Given the description of an element on the screen output the (x, y) to click on. 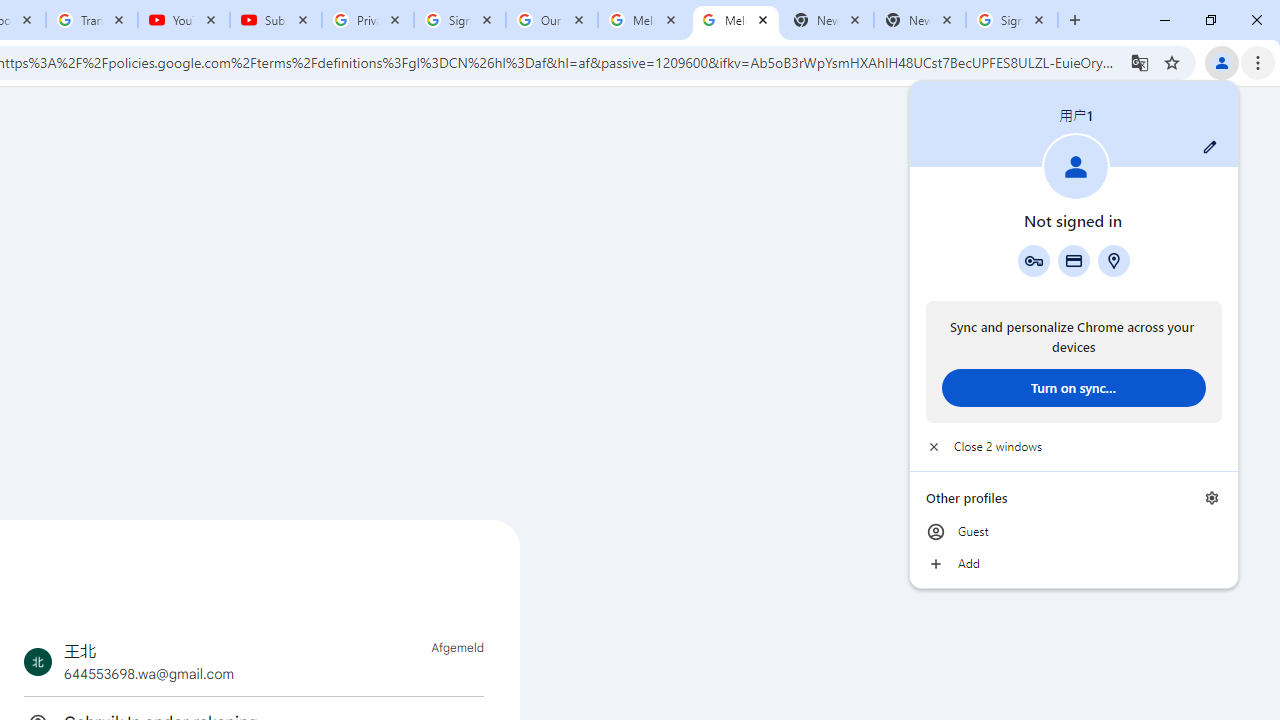
Sign in (875, 32)
